Given the description of an element on the screen output the (x, y) to click on. 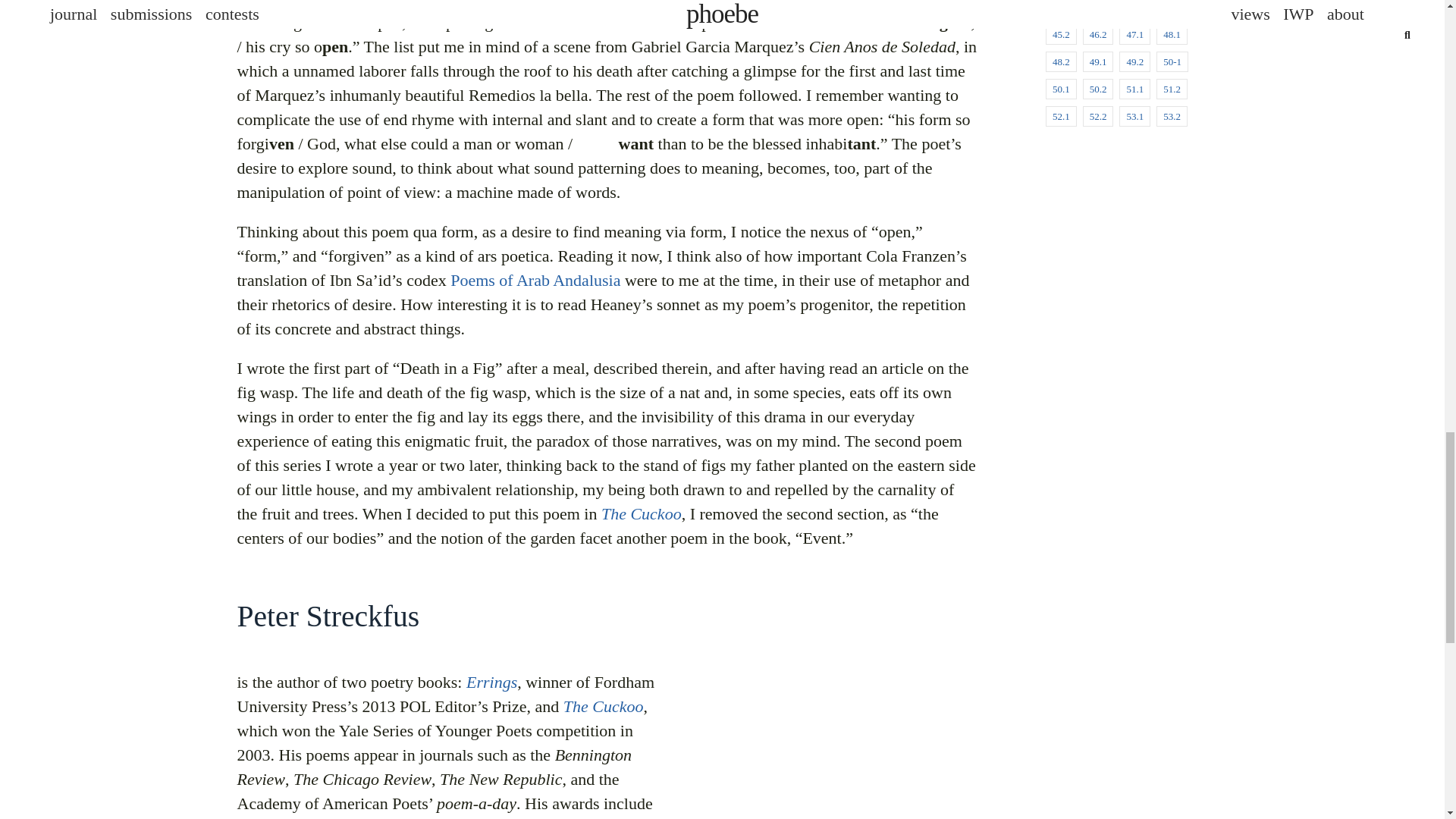
Poems of Arab Andalusia (534, 279)
Errings (490, 681)
The Cuckoo (641, 512)
The Cuckoo (603, 705)
